Given the description of an element on the screen output the (x, y) to click on. 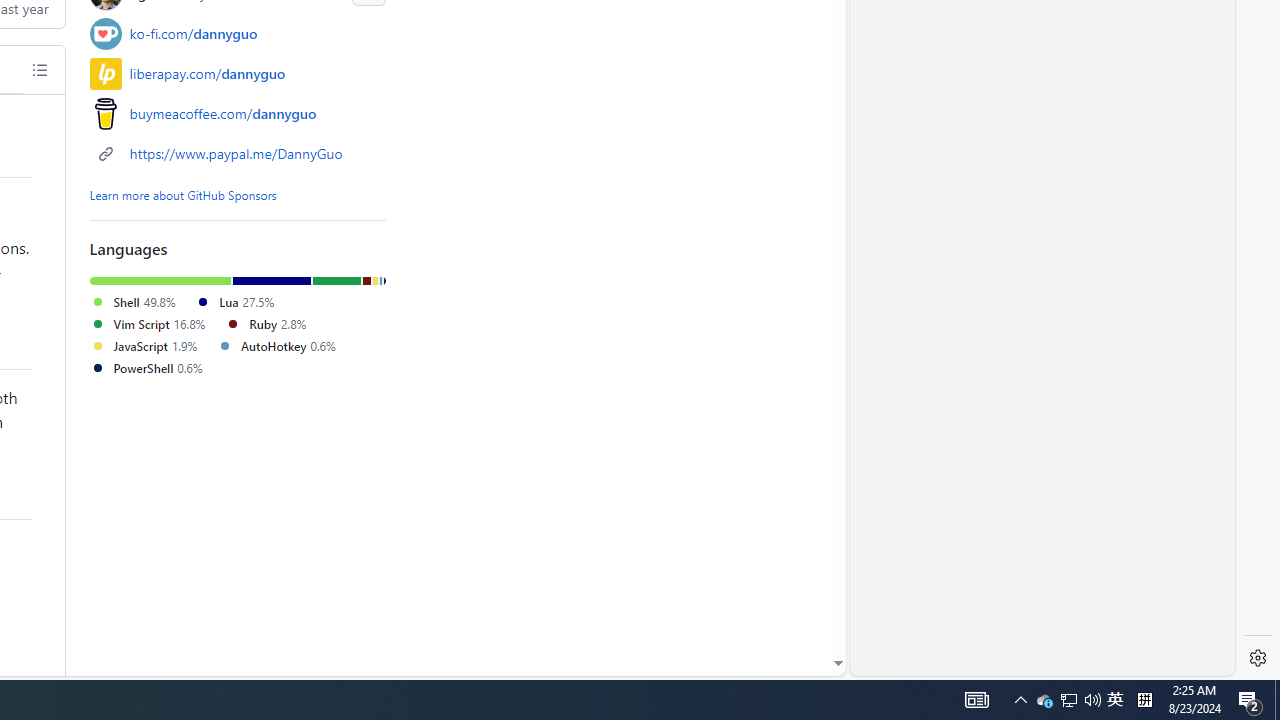
https://www.paypal.me/DannyGuo (237, 152)
Vim Script16.8% (157, 324)
Outline (39, 69)
liberapay.com/dannyguo (237, 73)
Shell 49.8% (132, 301)
buymeacoffee.com/dannyguo (237, 113)
Lua27.5% (242, 302)
Vim Script 16.8% (147, 322)
Ruby 2.8% (266, 322)
buy_me_a_coffee (105, 113)
https://www.paypal.me/DannyGuo (236, 154)
AutoHotkey0.6% (284, 346)
